Given the description of an element on the screen output the (x, y) to click on. 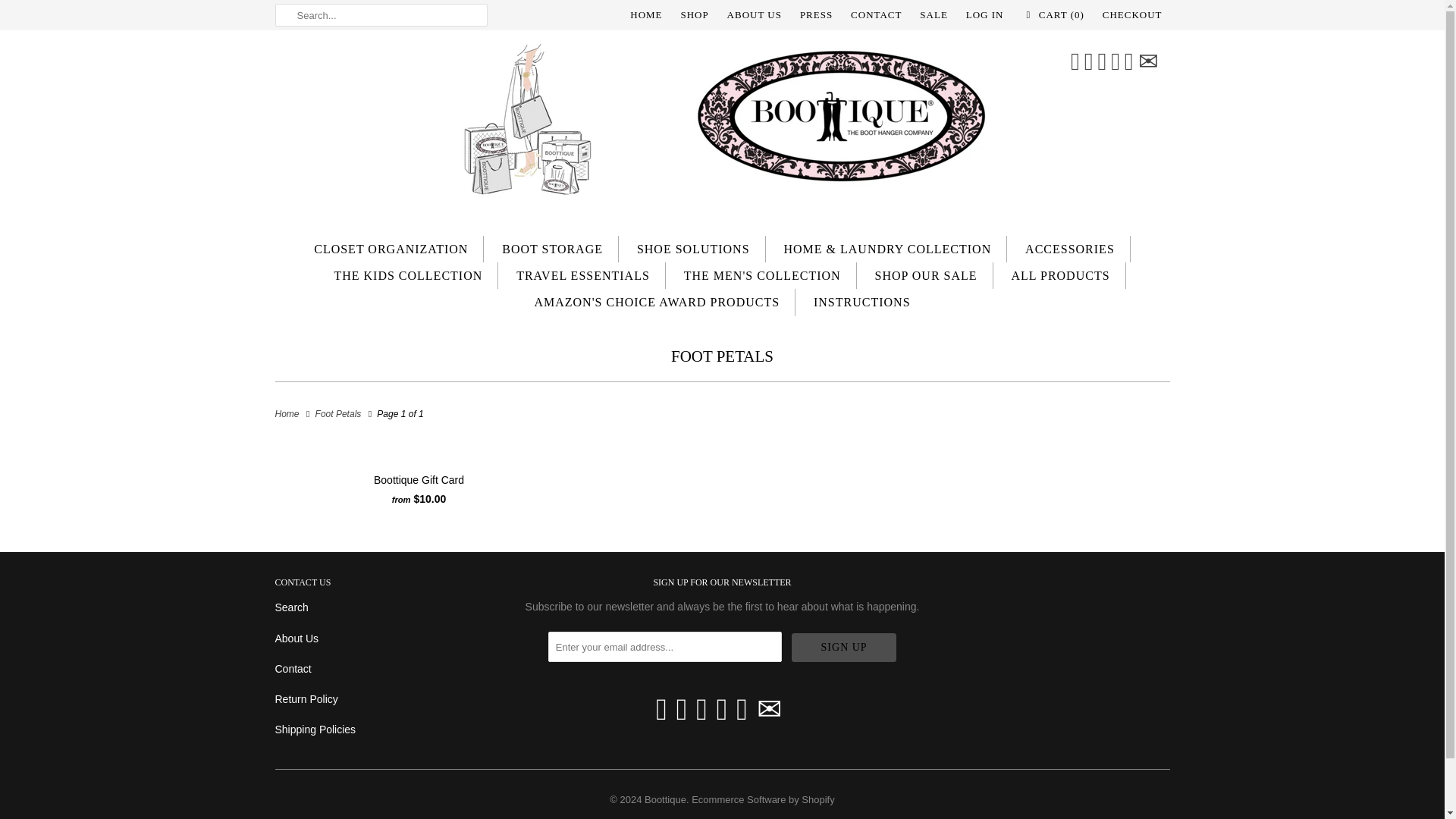
CLOSET ORGANIZATION (390, 248)
THE KIDS COLLECTION (407, 275)
Foot Petals (722, 356)
CHECKOUT (1131, 15)
Search (291, 607)
Boottique (722, 125)
Foot Petals (338, 413)
ALL PRODUCTS (1059, 275)
Foot Petals (338, 413)
SALE (933, 15)
